Given the description of an element on the screen output the (x, y) to click on. 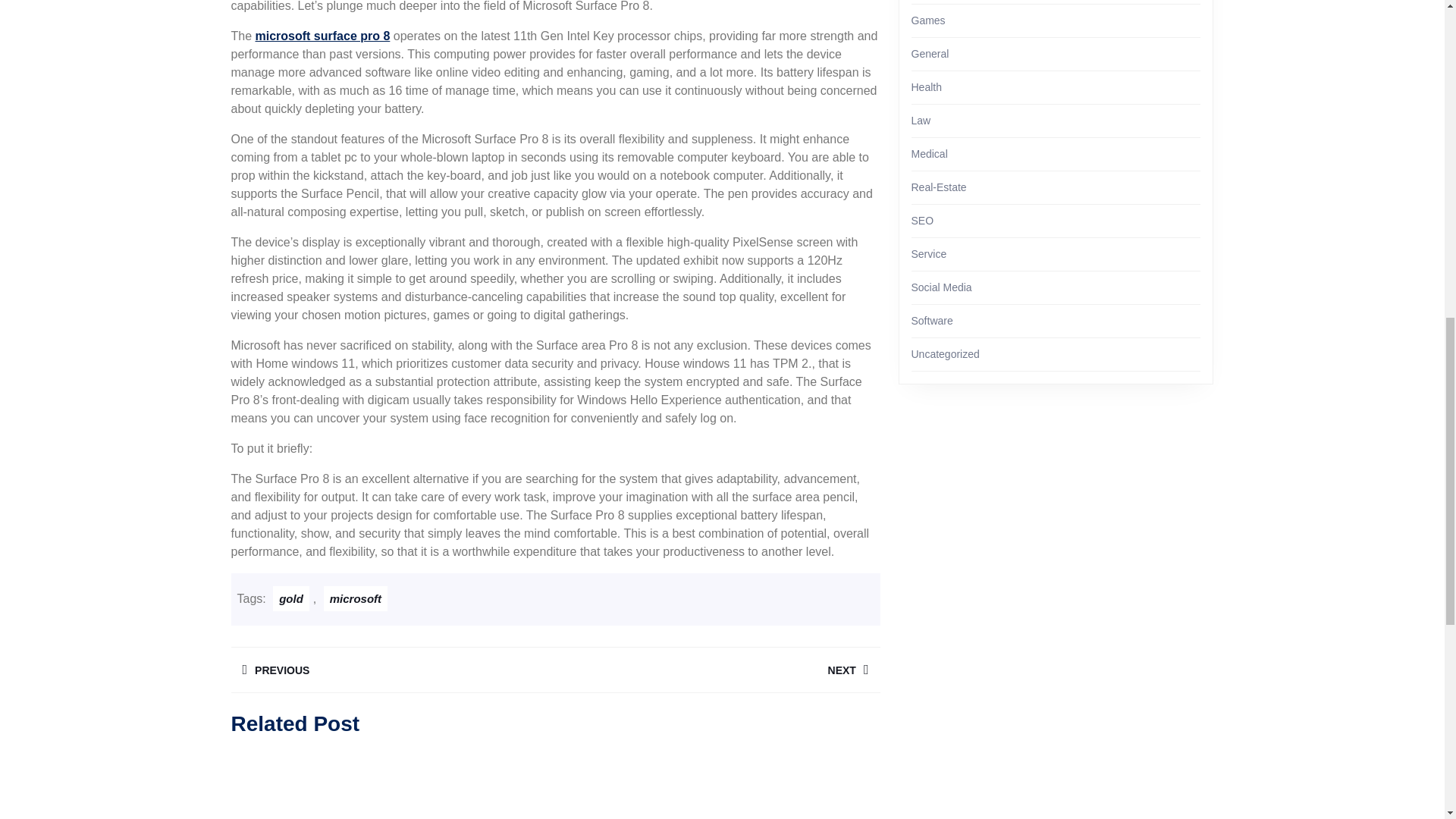
gold (290, 598)
microsoft (716, 669)
microsoft surface pro 8 (392, 669)
